Given the description of an element on the screen output the (x, y) to click on. 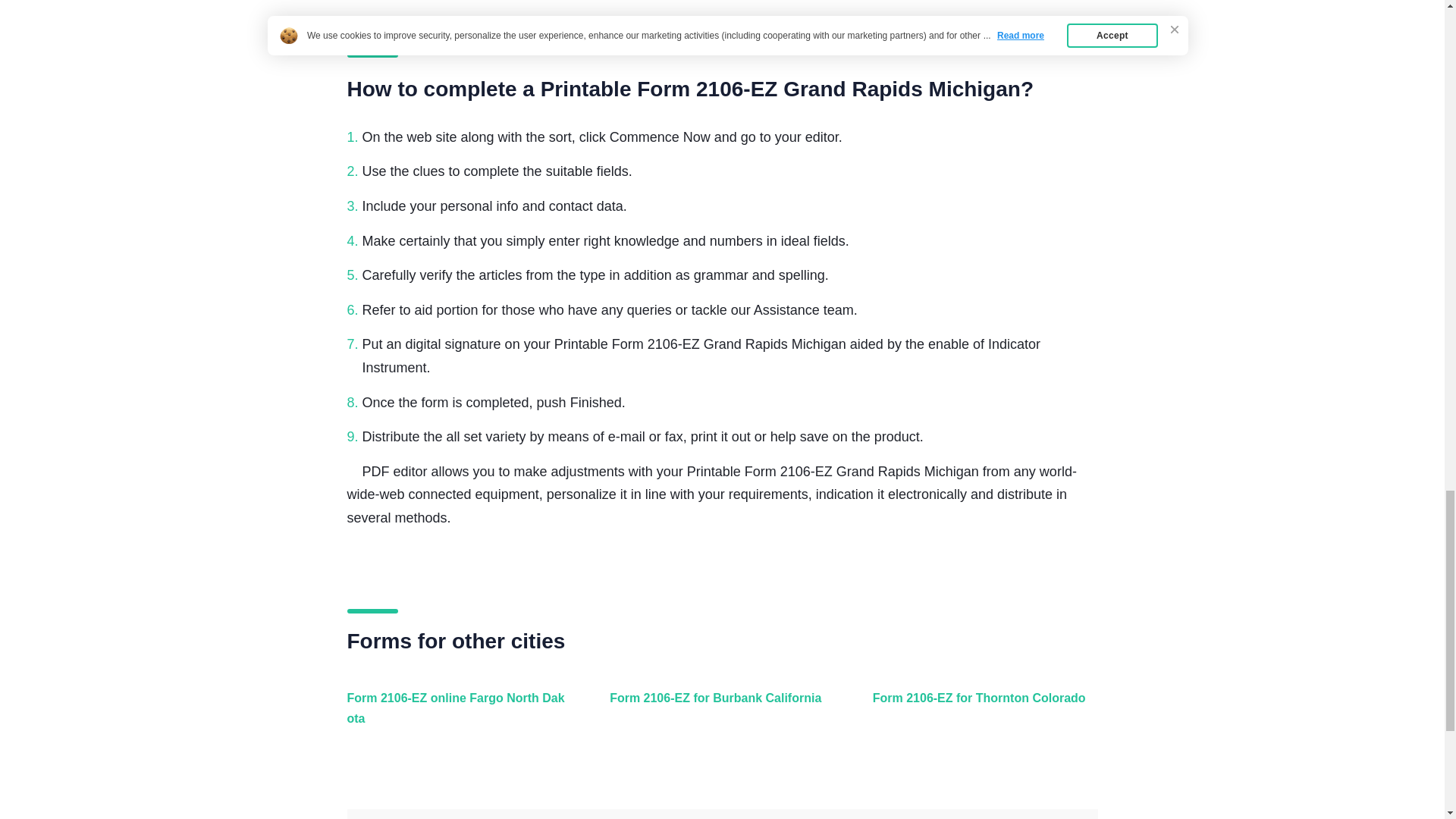
Form 2106-EZ for Thornton Colorado (981, 715)
Form 2106-EZ for Burbank California (718, 715)
Form 2106-EZ online Fargo North Dakota (456, 715)
